Given the description of an element on the screen output the (x, y) to click on. 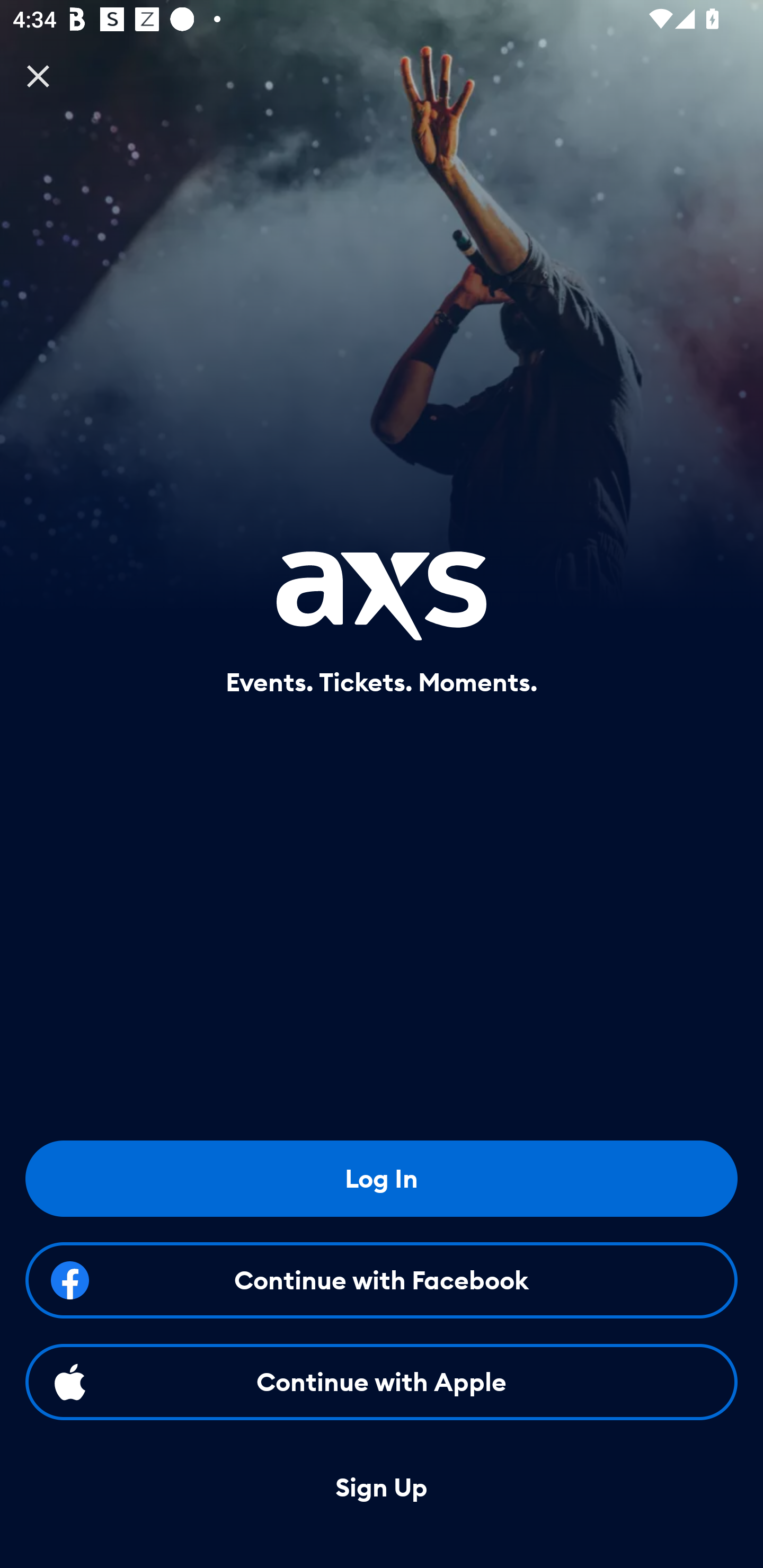
Log In (381, 1177)
Continue with Facebook (381, 1279)
Continue with Apple (381, 1381)
Sign Up (381, 1487)
